Given the description of an element on the screen output the (x, y) to click on. 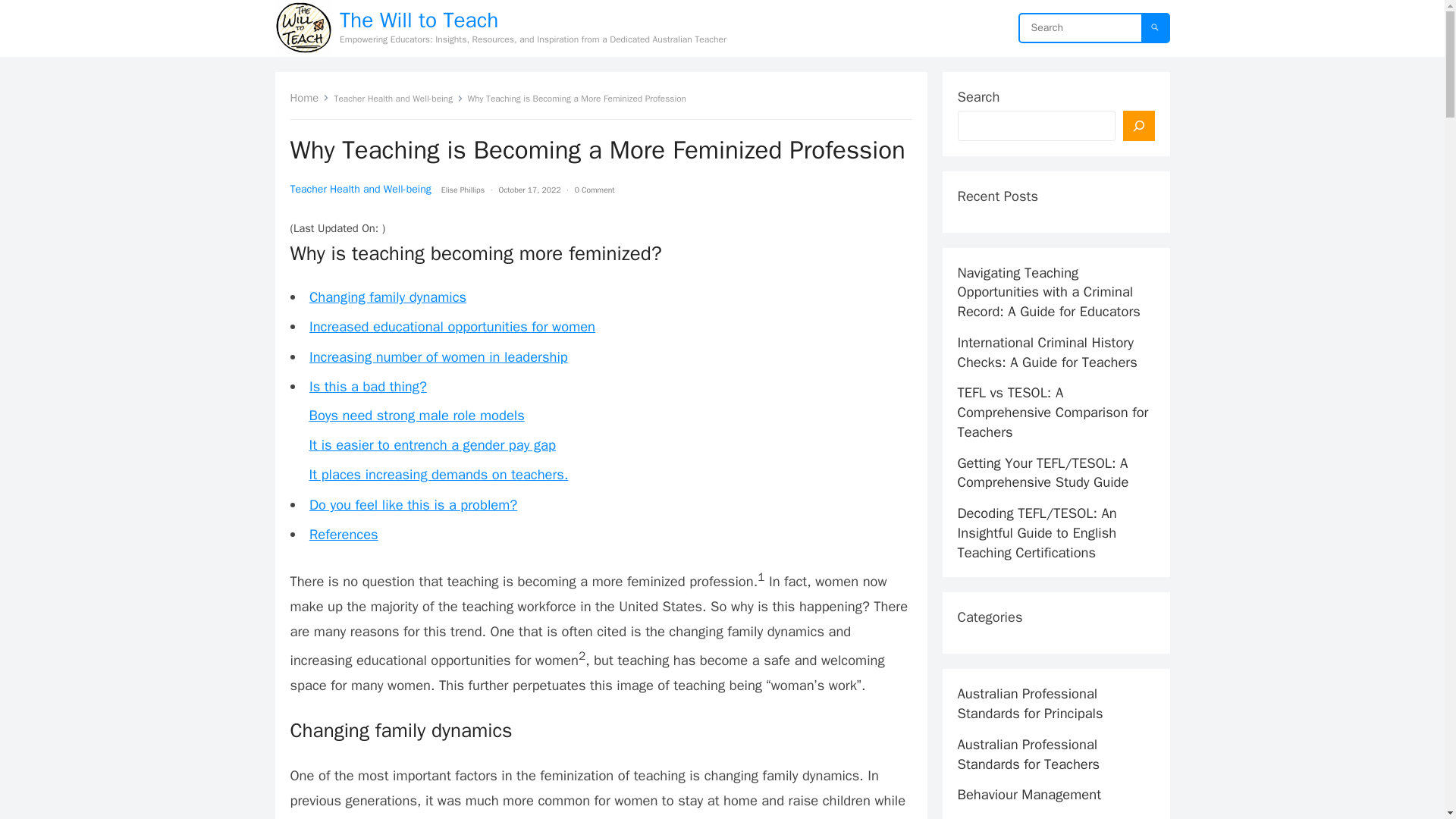
Home (309, 97)
Is this a bad thing? (367, 385)
The Will to Teach (532, 20)
Teacher Health and Well-being (359, 188)
References (343, 533)
Posts by Elise Phillips (462, 189)
Increasing number of women in leadership (437, 356)
Elise Phillips (462, 189)
Increased educational opportunities for women (451, 325)
Boys need strong male role models (416, 415)
It is easier to entrench a gender pay gap (432, 444)
Teacher Health and Well-being (398, 98)
Do you feel like this is a problem? (412, 504)
It places increasing demands on teachers. (438, 474)
0 Comment (594, 189)
